Given the description of an element on the screen output the (x, y) to click on. 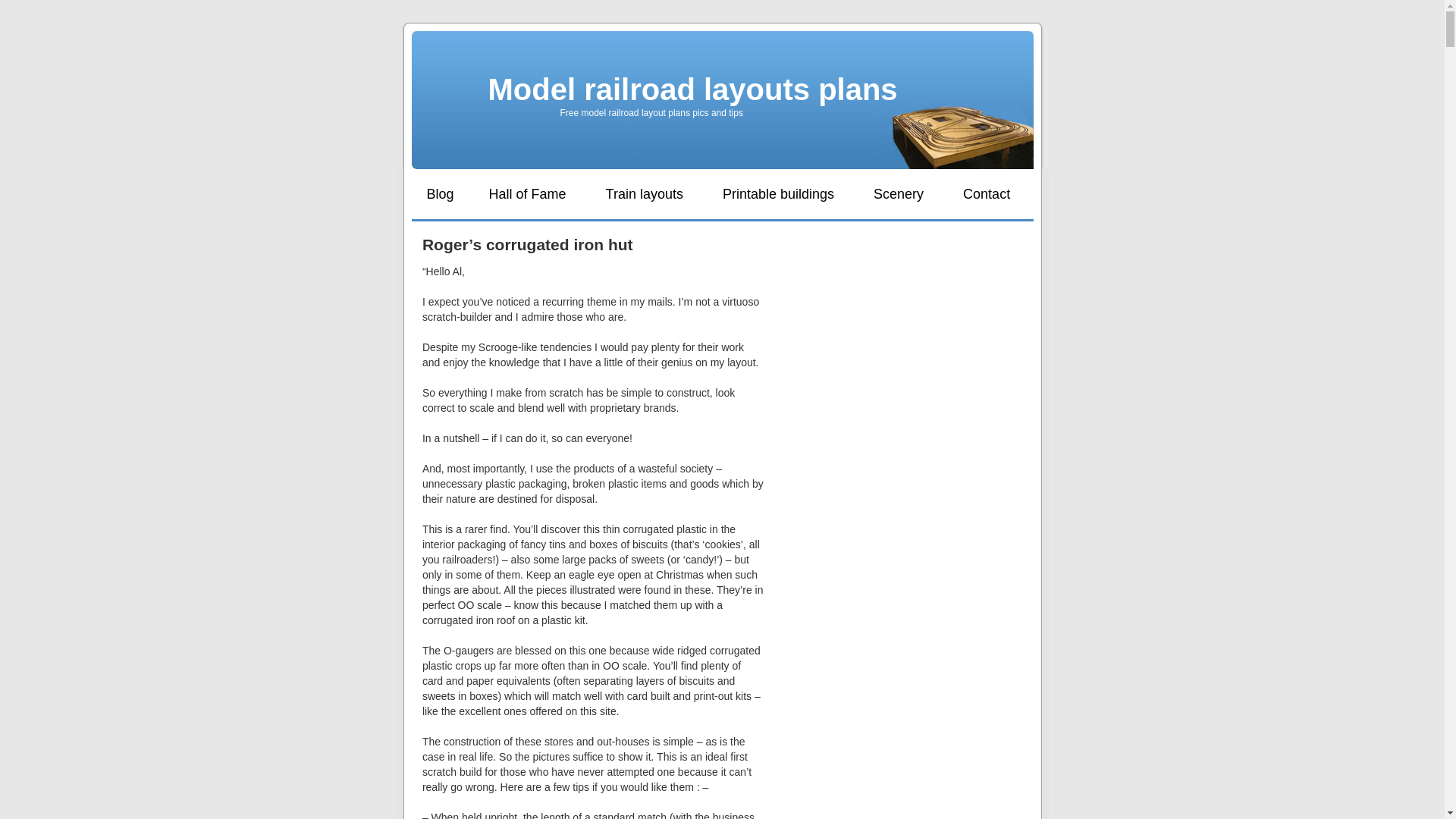
Model railroad layouts plans (692, 89)
Blog (439, 193)
Train layouts (644, 193)
Hall of Fame (527, 193)
Model train scenery (898, 193)
Model railroad layouts plans (692, 89)
